Given the description of an element on the screen output the (x, y) to click on. 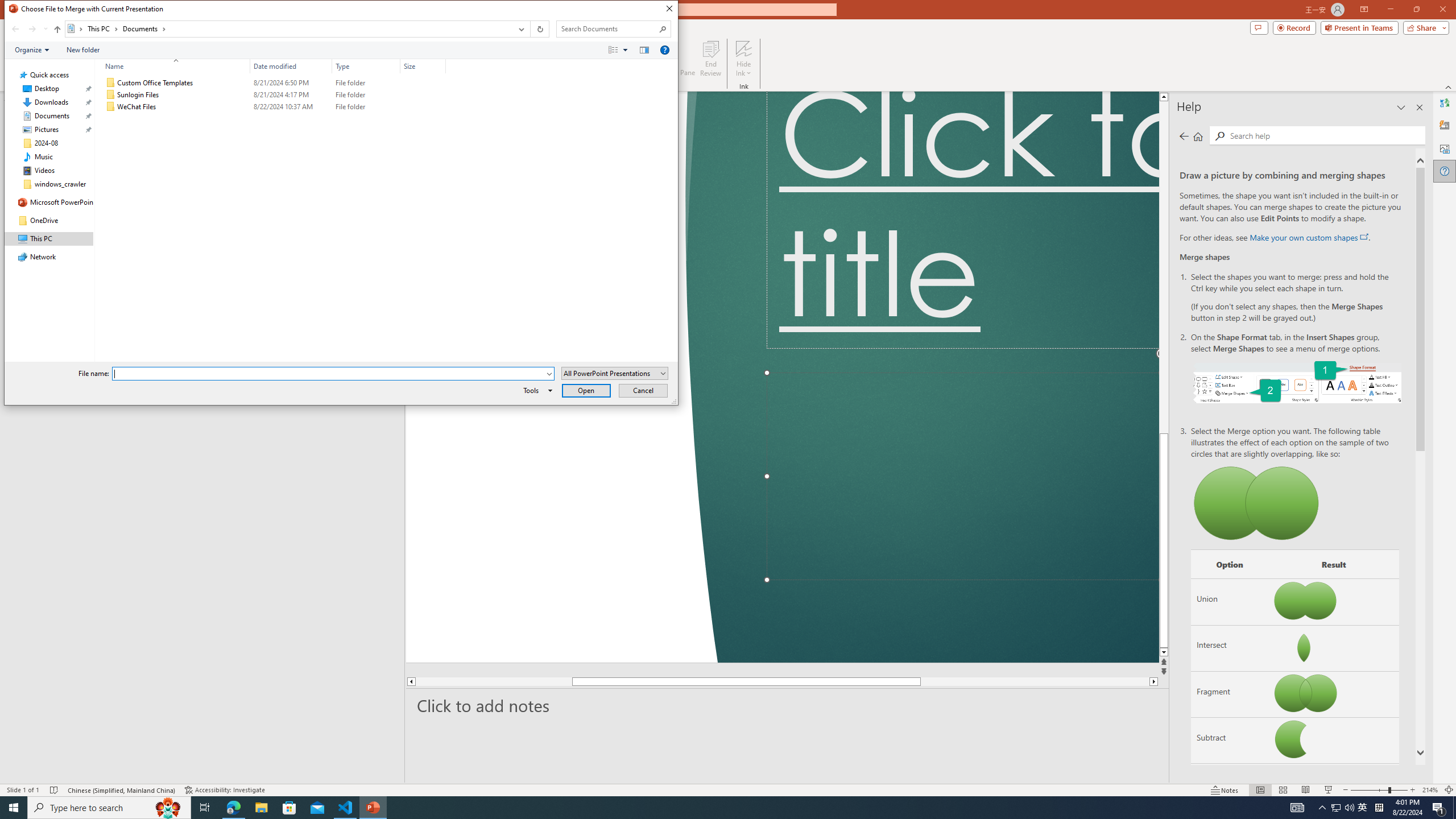
Recent locations (44, 28)
Intersect (1229, 647)
Date modified (290, 65)
Filter dropdown (440, 65)
Zoom 214% (1430, 790)
Name (183, 106)
